Given the description of an element on the screen output the (x, y) to click on. 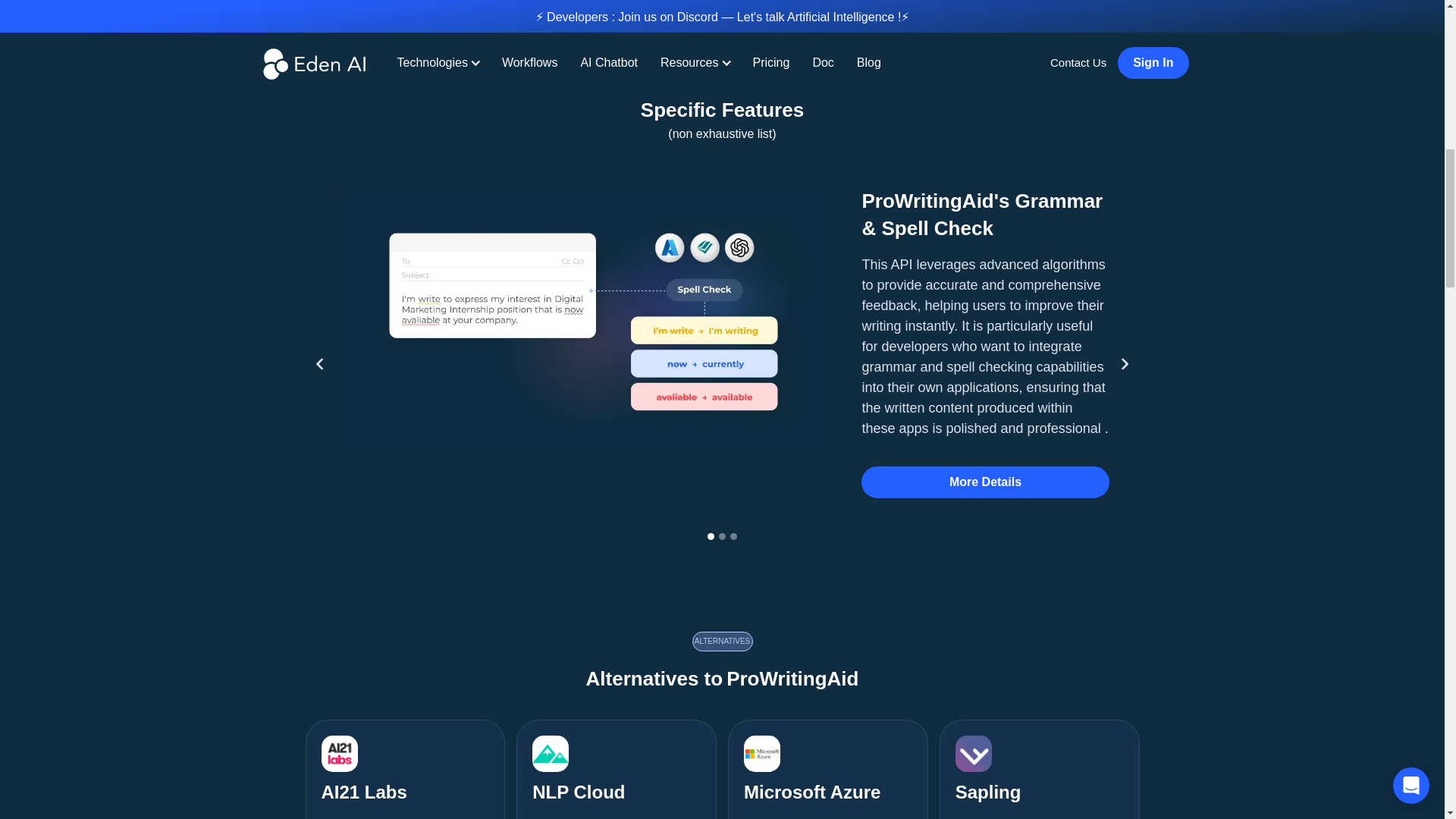
More Details (404, 769)
